Given the description of an element on the screen output the (x, y) to click on. 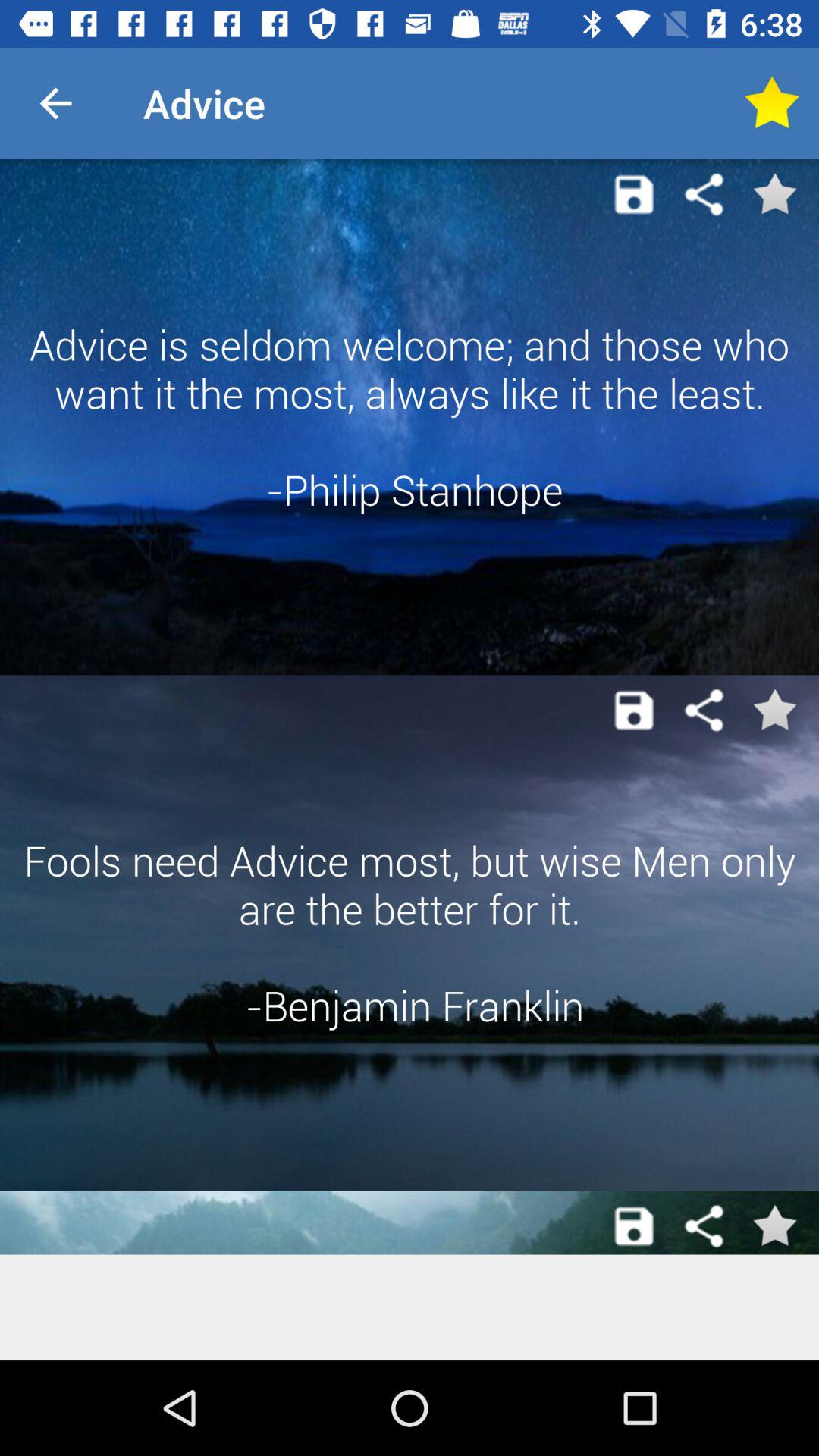
press the fools need advice icon (409, 932)
